Given the description of an element on the screen output the (x, y) to click on. 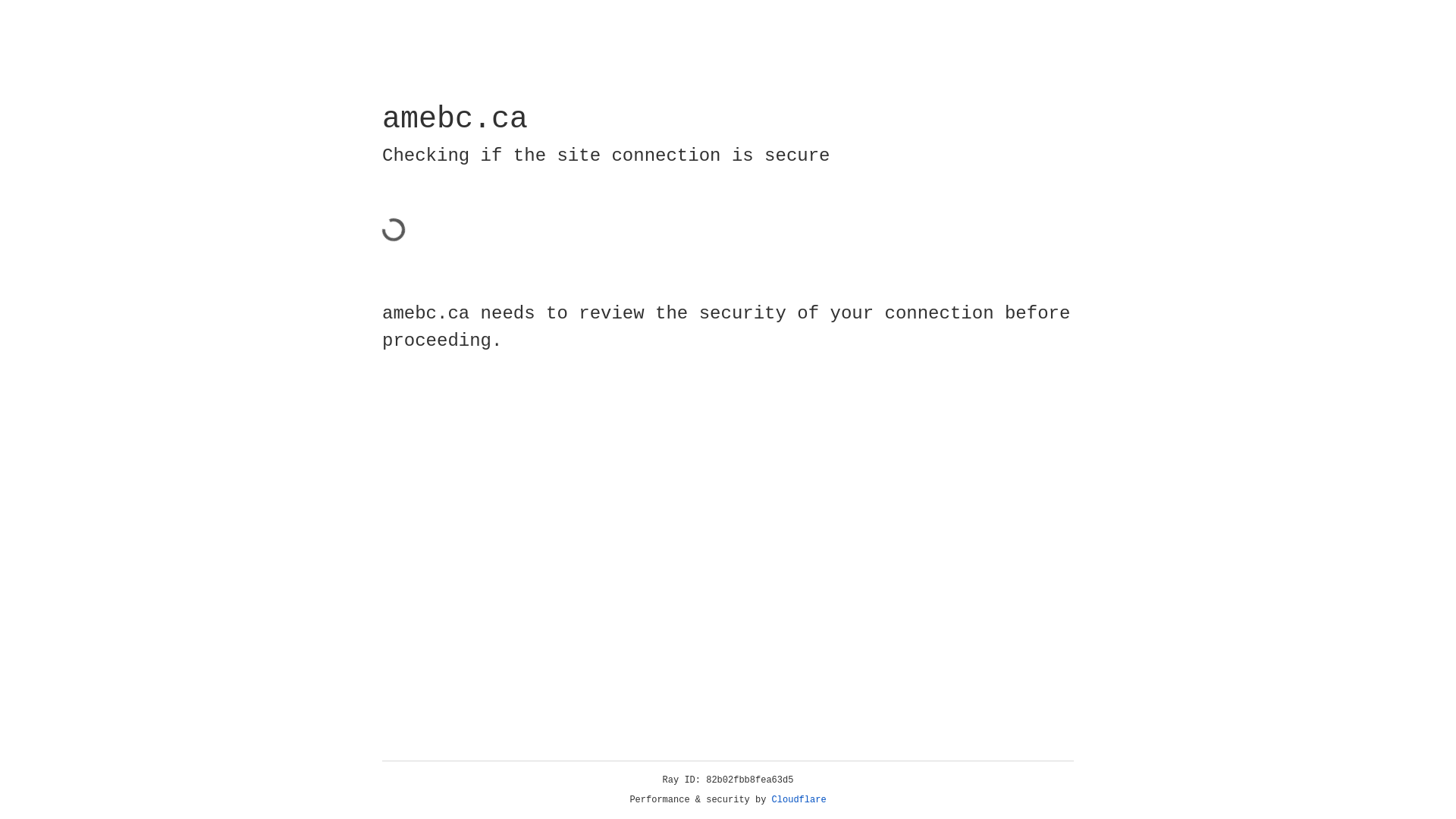
Cloudflare Element type: text (798, 799)
